Given the description of an element on the screen output the (x, y) to click on. 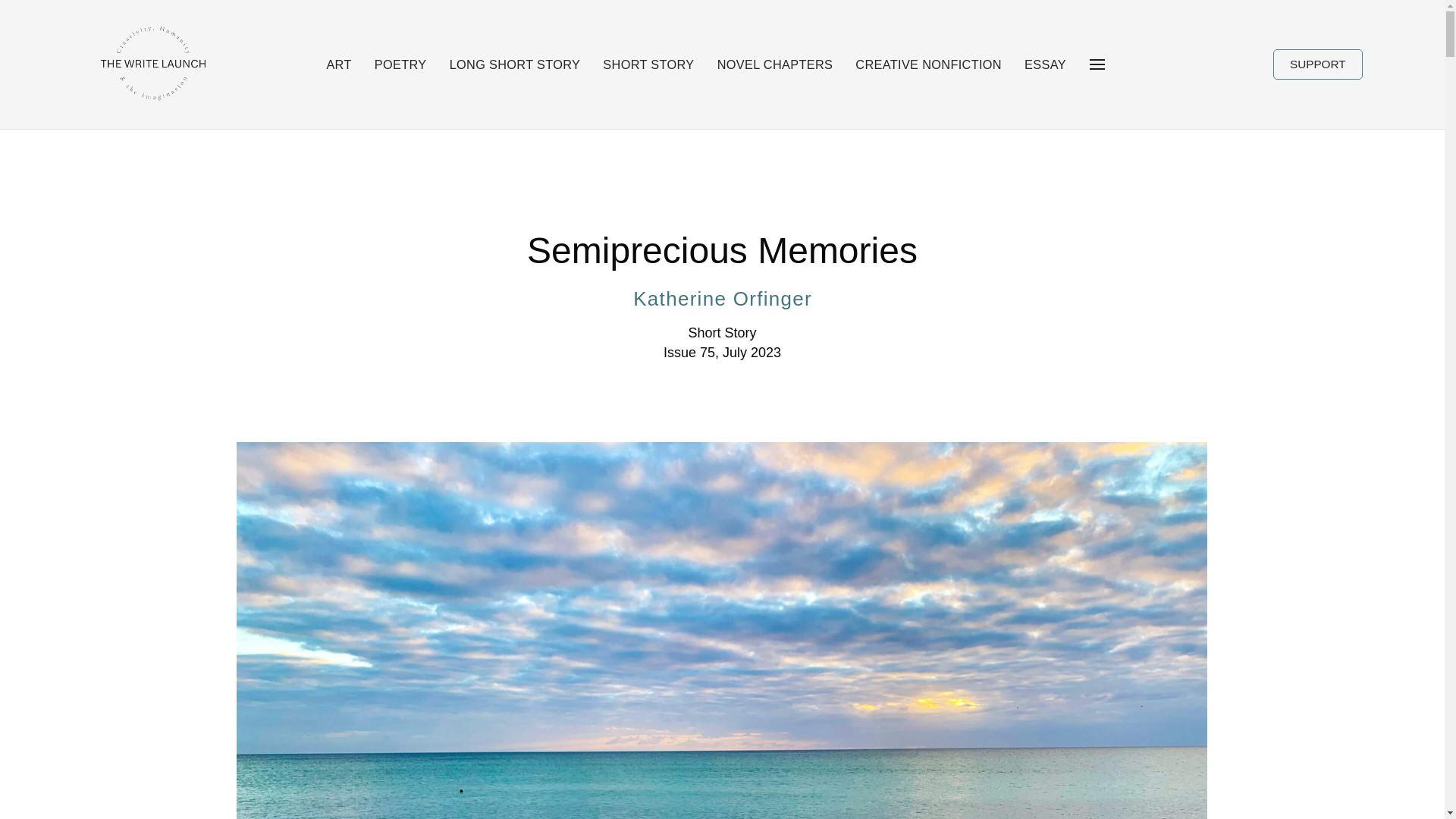
CREATIVE NONFICTION (927, 64)
LONG SHORT STORY (514, 64)
ART (338, 64)
ESSAY (1045, 64)
SHORT STORY (647, 64)
POETRY (400, 64)
Short Story (721, 333)
SUPPORT (1317, 63)
Katherine Orfinger (721, 298)
NOVEL CHAPTERS (774, 64)
